Given the description of an element on the screen output the (x, y) to click on. 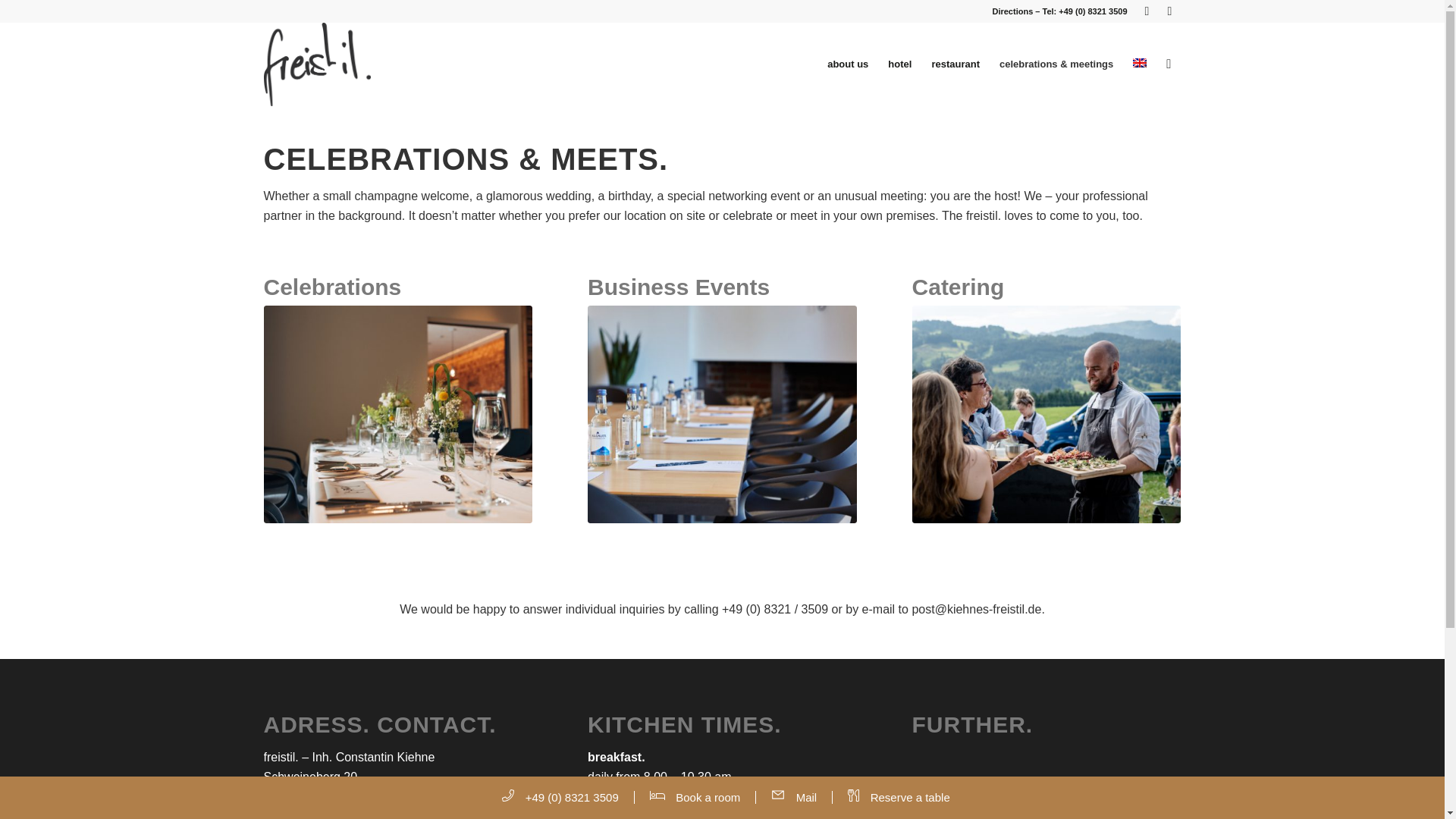
Mail (802, 797)
Reserve a table (906, 797)
Directions (1011, 10)
Facebook (1146, 11)
Book a room (703, 797)
Instagram (1169, 11)
